Given the description of an element on the screen output the (x, y) to click on. 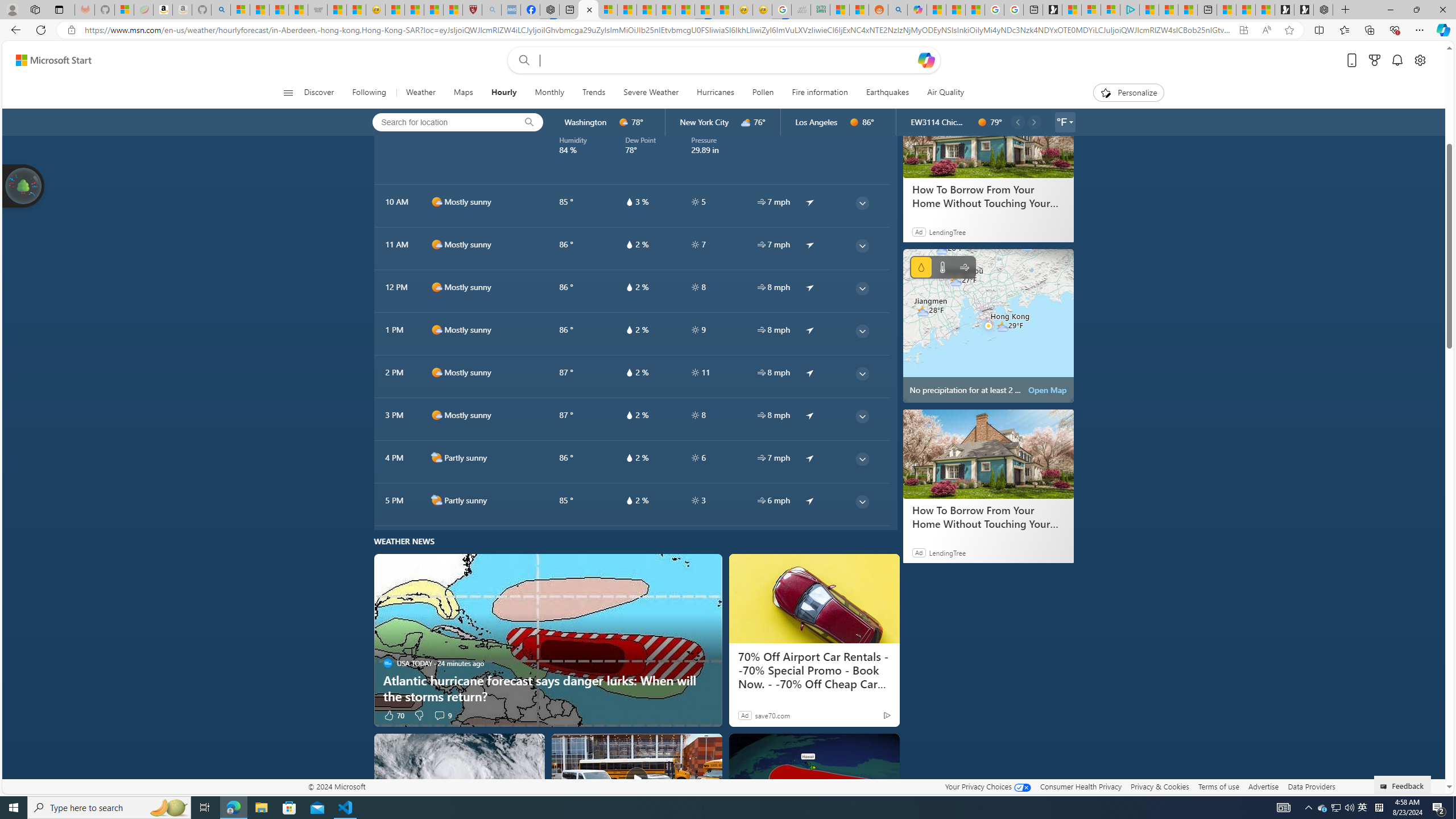
These 3 Stocks Pay You More Than 5% to Own Them (1187, 9)
Consumer Health Privacy (1080, 785)
View comments 9 Comment (439, 715)
common/arrow (809, 500)
Your Privacy Choices (987, 785)
Fire information (820, 92)
